Given the description of an element on the screen output the (x, y) to click on. 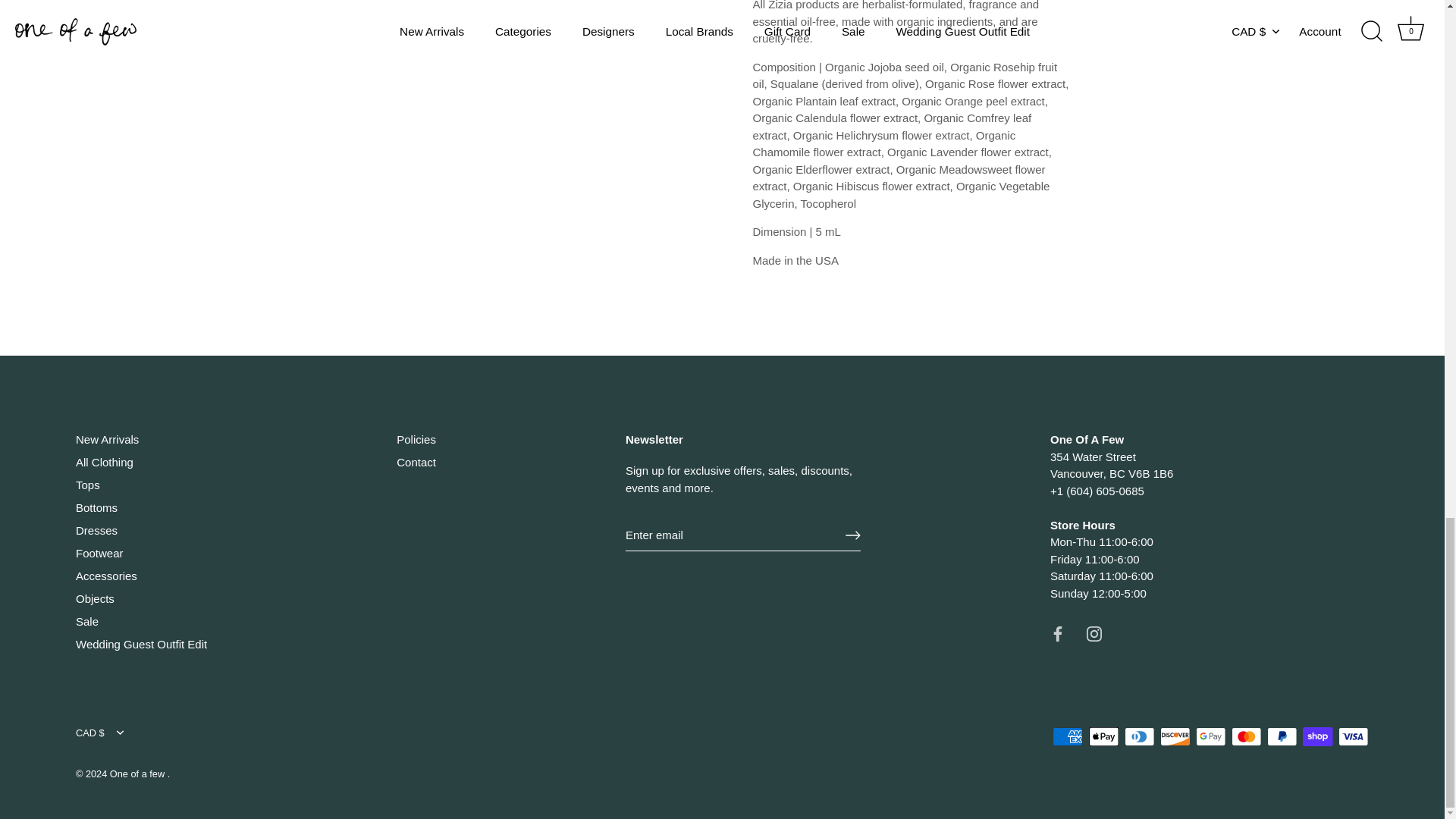
Instagram (1094, 633)
RIGHT ARROW LONG (852, 534)
Visa (1353, 736)
Discover (1174, 736)
Google Pay (1210, 736)
American Express (1067, 736)
PayPal (1281, 736)
Shop Pay (1317, 736)
Mastercard (1245, 736)
Apple Pay (1104, 736)
